Given the description of an element on the screen output the (x, y) to click on. 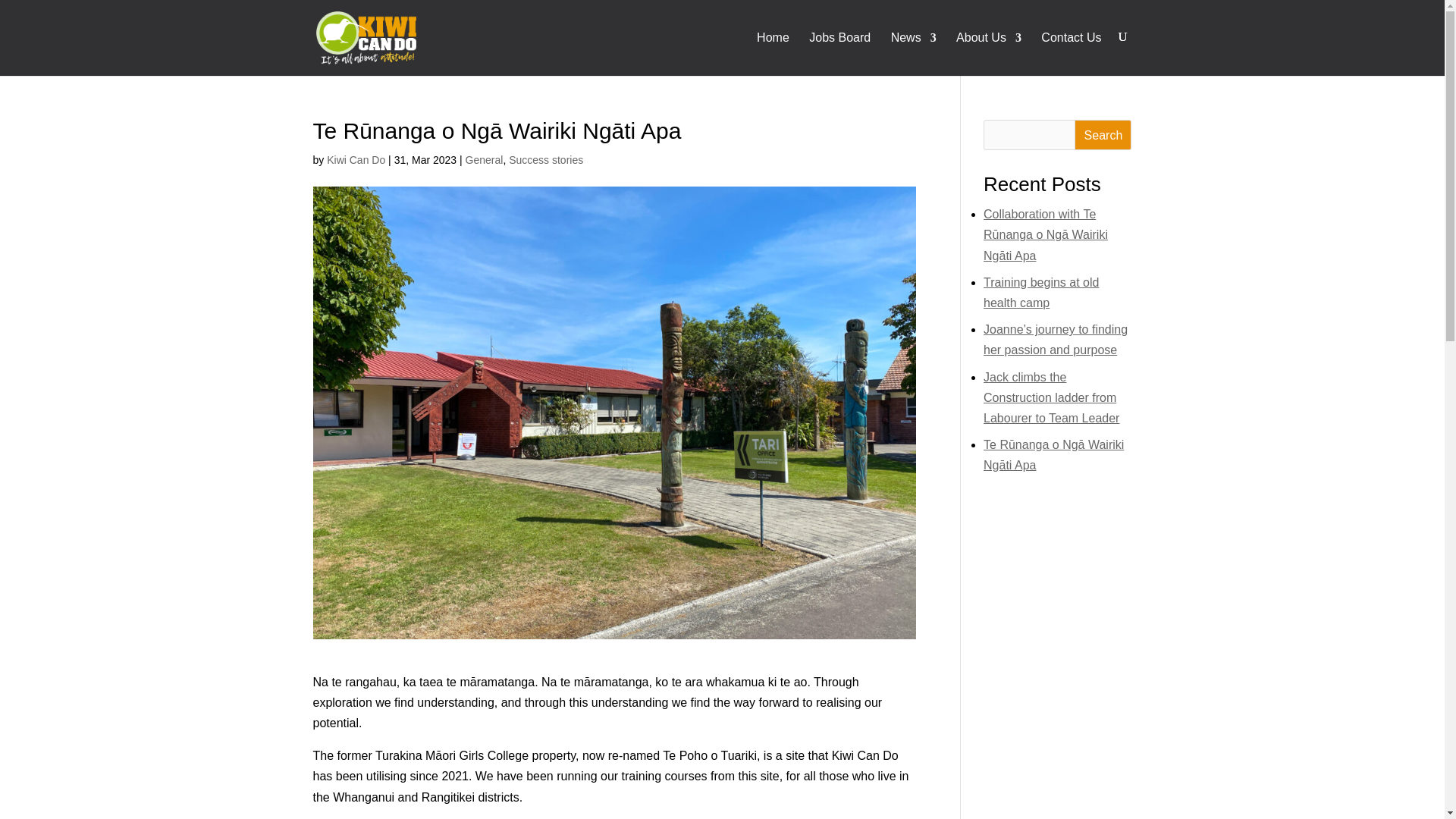
Search (1102, 134)
Contact Us (1070, 53)
Posts by Kiwi Can Do (355, 159)
Training begins at old health camp (1041, 292)
News (913, 53)
Jobs Board (839, 53)
Kiwi Can Do (355, 159)
Success stories (545, 159)
General (484, 159)
About Us (989, 53)
